Given the description of an element on the screen output the (x, y) to click on. 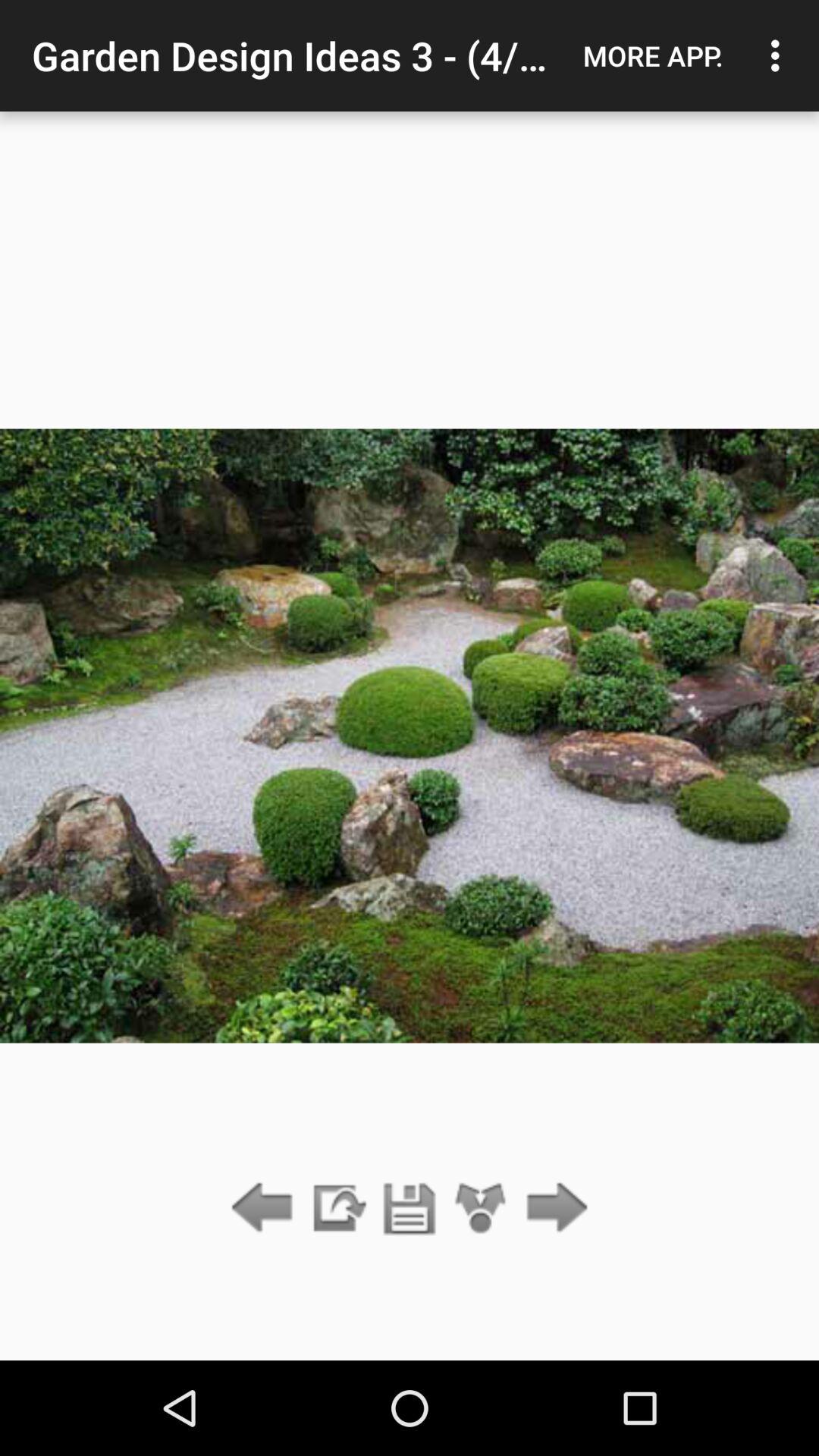
save this picture (409, 1208)
